Given the description of an element on the screen output the (x, y) to click on. 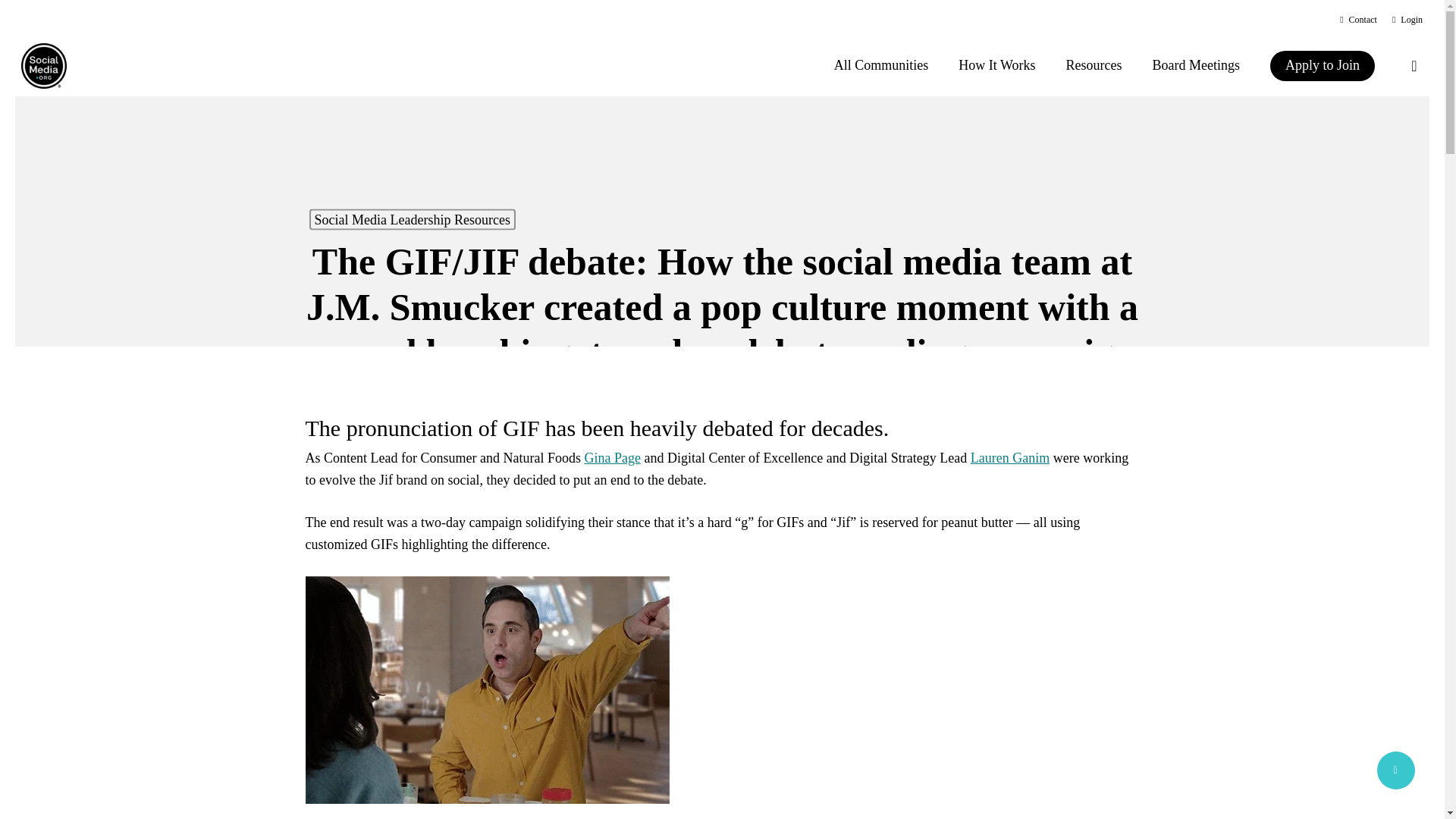
Board Meetings (1196, 65)
search (1414, 65)
How It Works (996, 65)
Login (1406, 19)
All Communities (880, 65)
Apply to Join (1321, 65)
Contact (1358, 19)
Resources (1094, 65)
